Given the description of an element on the screen output the (x, y) to click on. 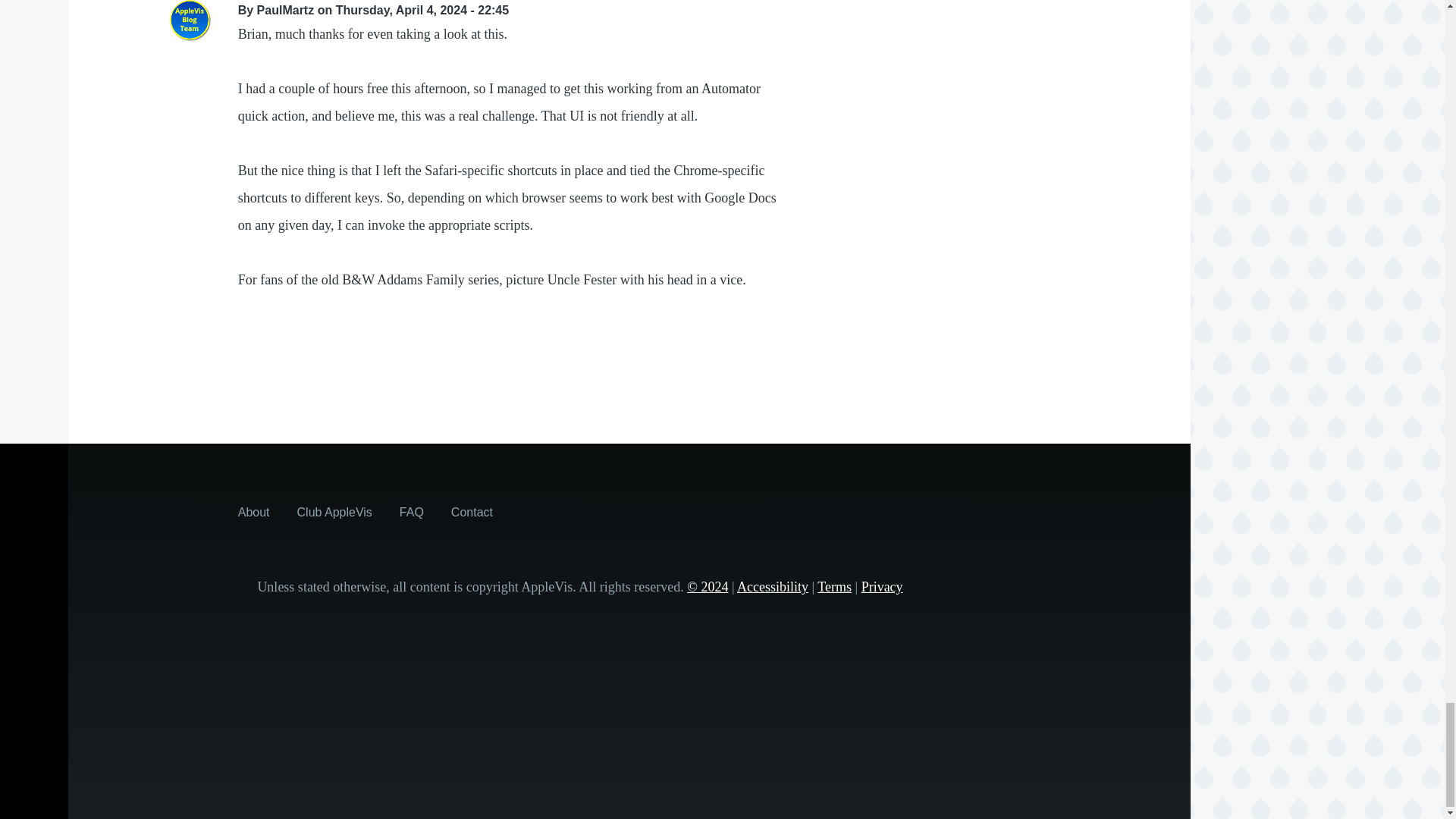
Answers to some frequently asked questions about AppleVis (410, 511)
About (253, 511)
